Given the description of an element on the screen output the (x, y) to click on. 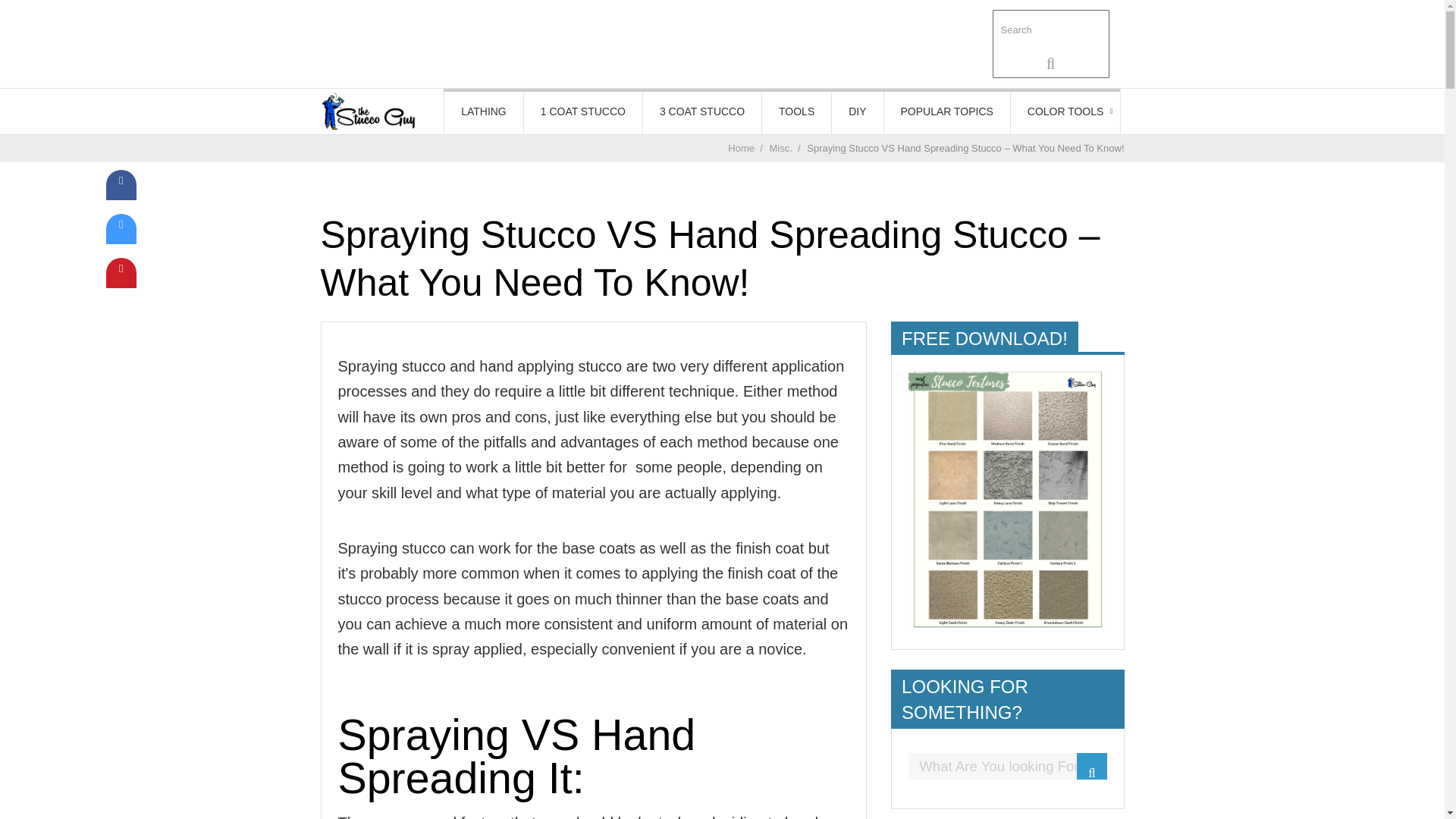
1 COAT STUCCO (583, 111)
TOOLS (796, 111)
Share on Twitter (121, 239)
COLOR TOOLS (1065, 111)
Share on Facebook (121, 195)
LATHING (483, 111)
Share on Pinterest (121, 283)
DIY (856, 111)
3 COAT STUCCO (702, 111)
POPULAR TOPICS (946, 111)
